Given the description of an element on the screen output the (x, y) to click on. 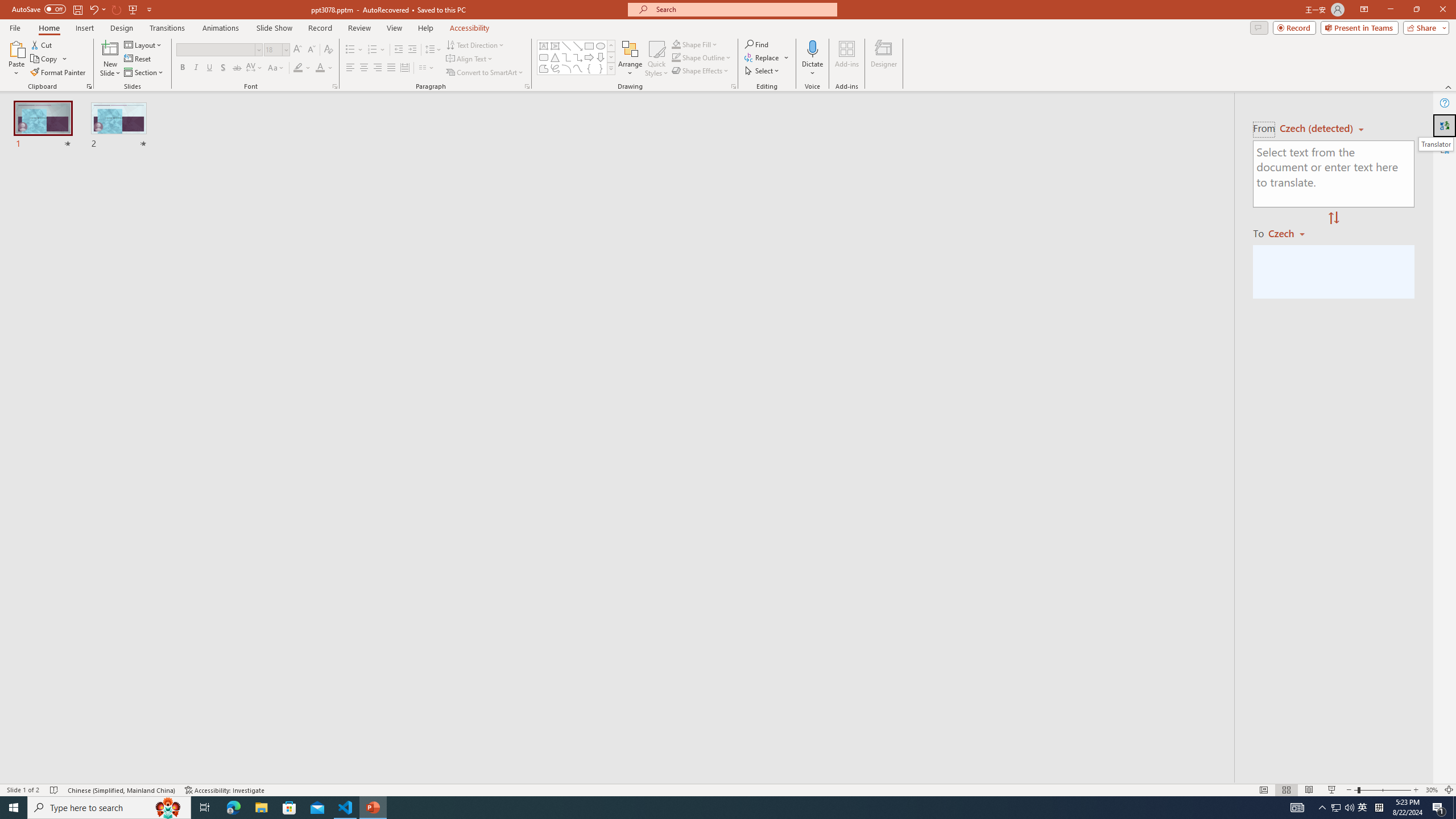
Increase Font Size (297, 49)
Design (122, 28)
Insert (83, 28)
Arrow: Down (600, 57)
Shadow (223, 67)
Paste (16, 58)
Slide (118, 125)
Class: NetUIImage (610, 68)
Translator (1435, 143)
Reset (138, 58)
Text Highlight Color Yellow (297, 67)
